Given the description of an element on the screen output the (x, y) to click on. 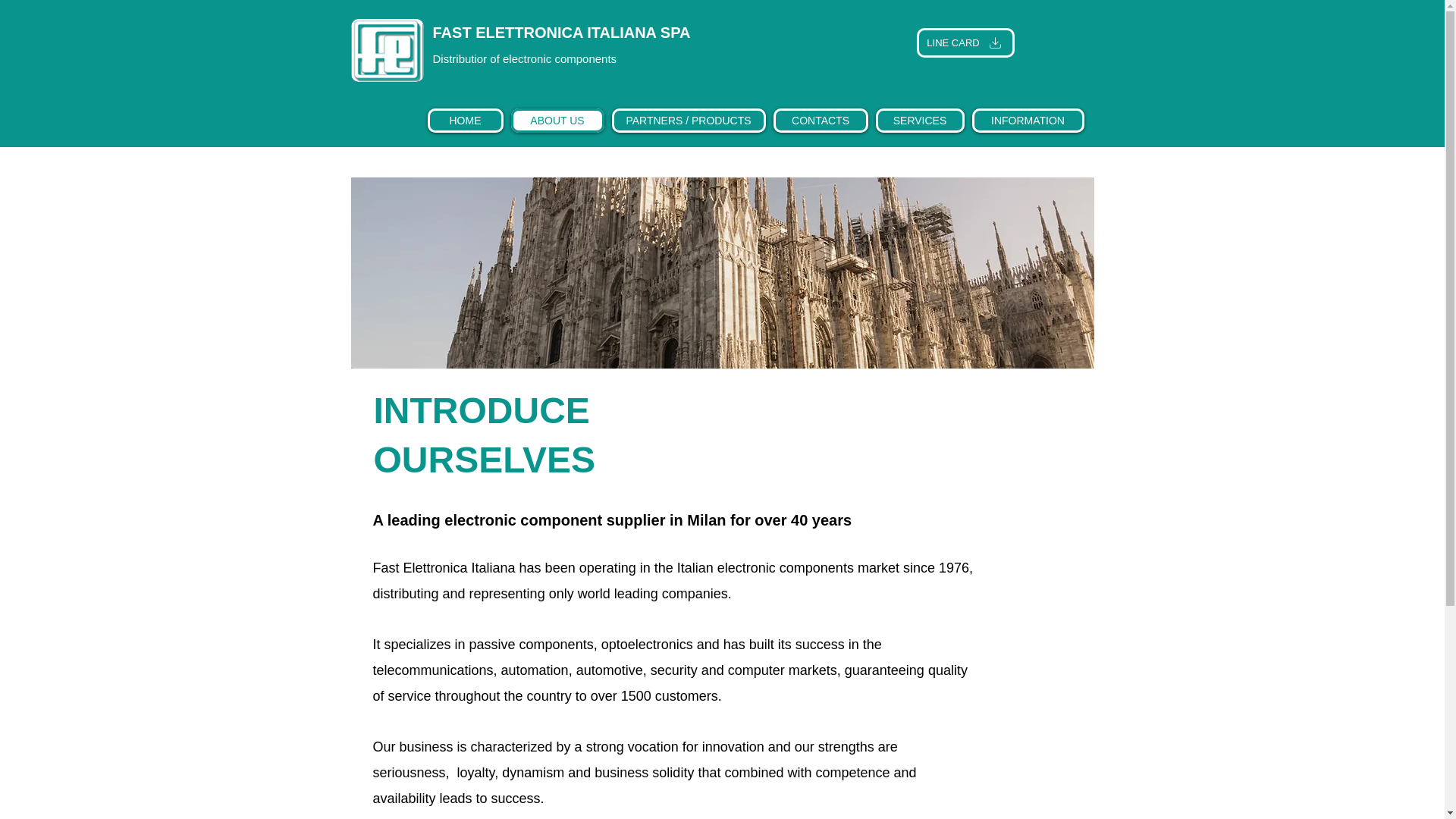
SERVICES (919, 120)
ABOUT US (557, 120)
LINE CARD (964, 42)
INFORMATION (1028, 120)
CONTACTS (820, 120)
HOME (465, 120)
